Given the description of an element on the screen output the (x, y) to click on. 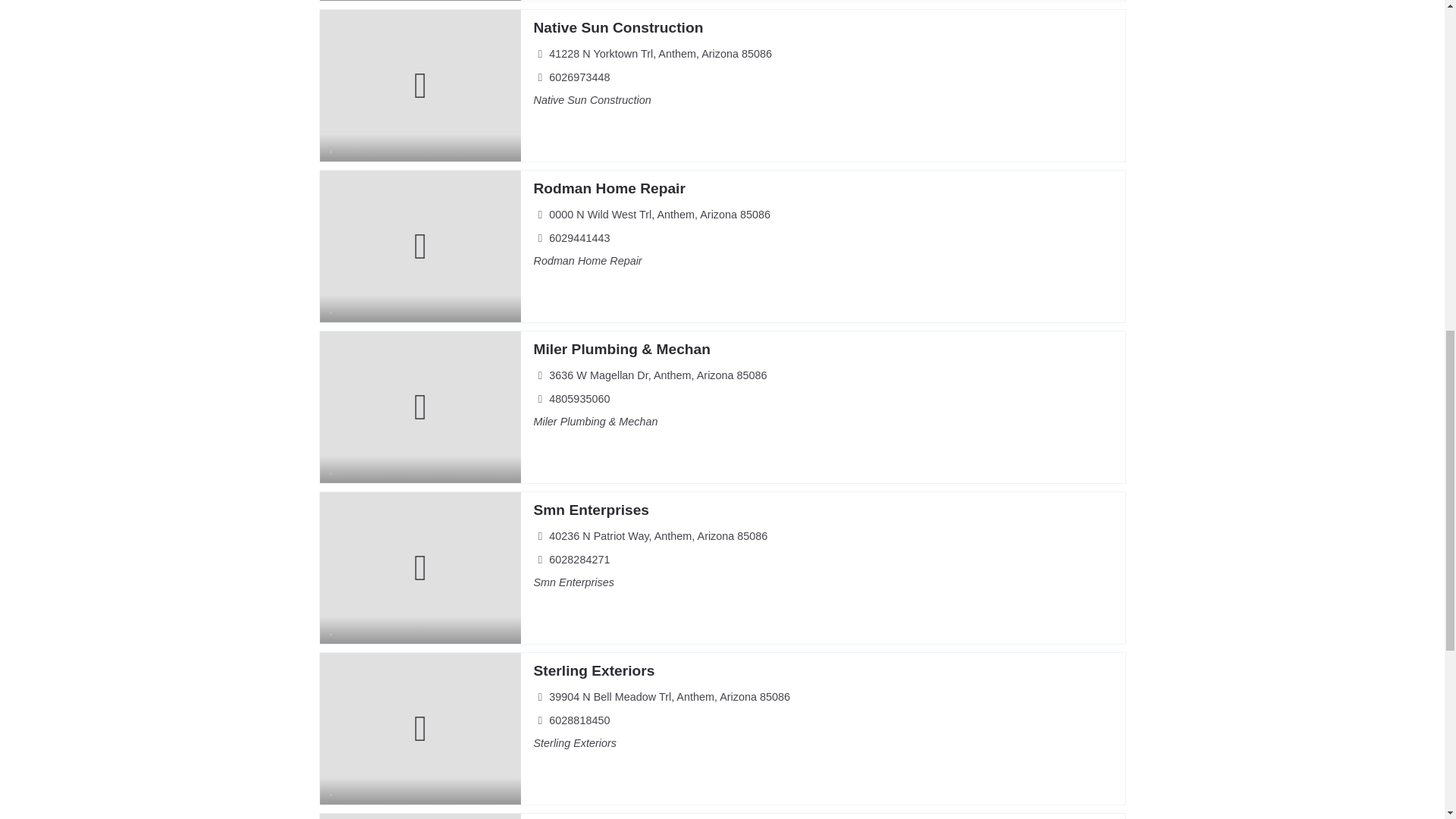
Bookmark (331, 468)
Smn Enterprises (590, 509)
Native Sun Construction (617, 27)
Bookmark (331, 146)
Rodman Home Repair (608, 188)
Rodman Home Repair (608, 188)
Native Sun Construction (617, 27)
Bookmark (331, 629)
Sterling Exteriors (592, 670)
Bookmark (331, 789)
Bookmark (331, 307)
